Given the description of an element on the screen output the (x, y) to click on. 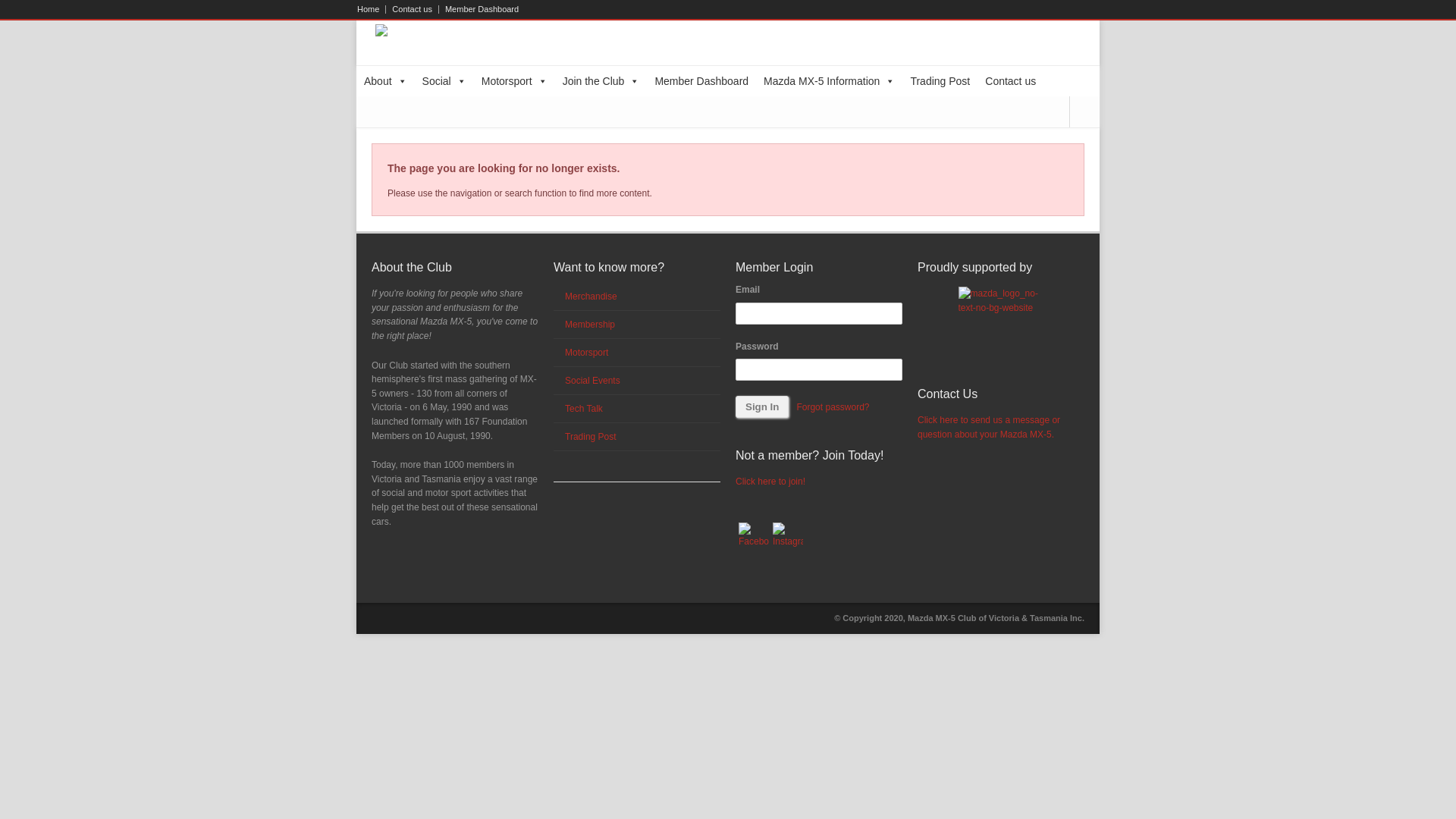
Trading Post Element type: text (939, 80)
Tech Talk Element type: text (583, 408)
About Element type: text (385, 80)
Contact us Element type: text (412, 9)
Motorsport Element type: text (586, 352)
Member Dashboard Element type: text (478, 9)
Join the Club Element type: text (601, 80)
Home Element type: text (371, 9)
Mazda MX-5 Information Element type: text (829, 80)
Member Dashboard Element type: text (701, 80)
Motorsport Element type: text (514, 80)
Membership Element type: text (589, 324)
Social Events Element type: text (592, 380)
Social Element type: text (443, 80)
Forgot password? Element type: text (832, 406)
Sign In Element type: text (761, 406)
Facebook Element type: hover (753, 537)
Click here to join! Element type: text (770, 481)
Trading Post Element type: text (590, 436)
Contact us Element type: text (1010, 80)
Instagram Element type: hover (787, 537)
Merchandise Element type: text (590, 296)
